Given the description of an element on the screen output the (x, y) to click on. 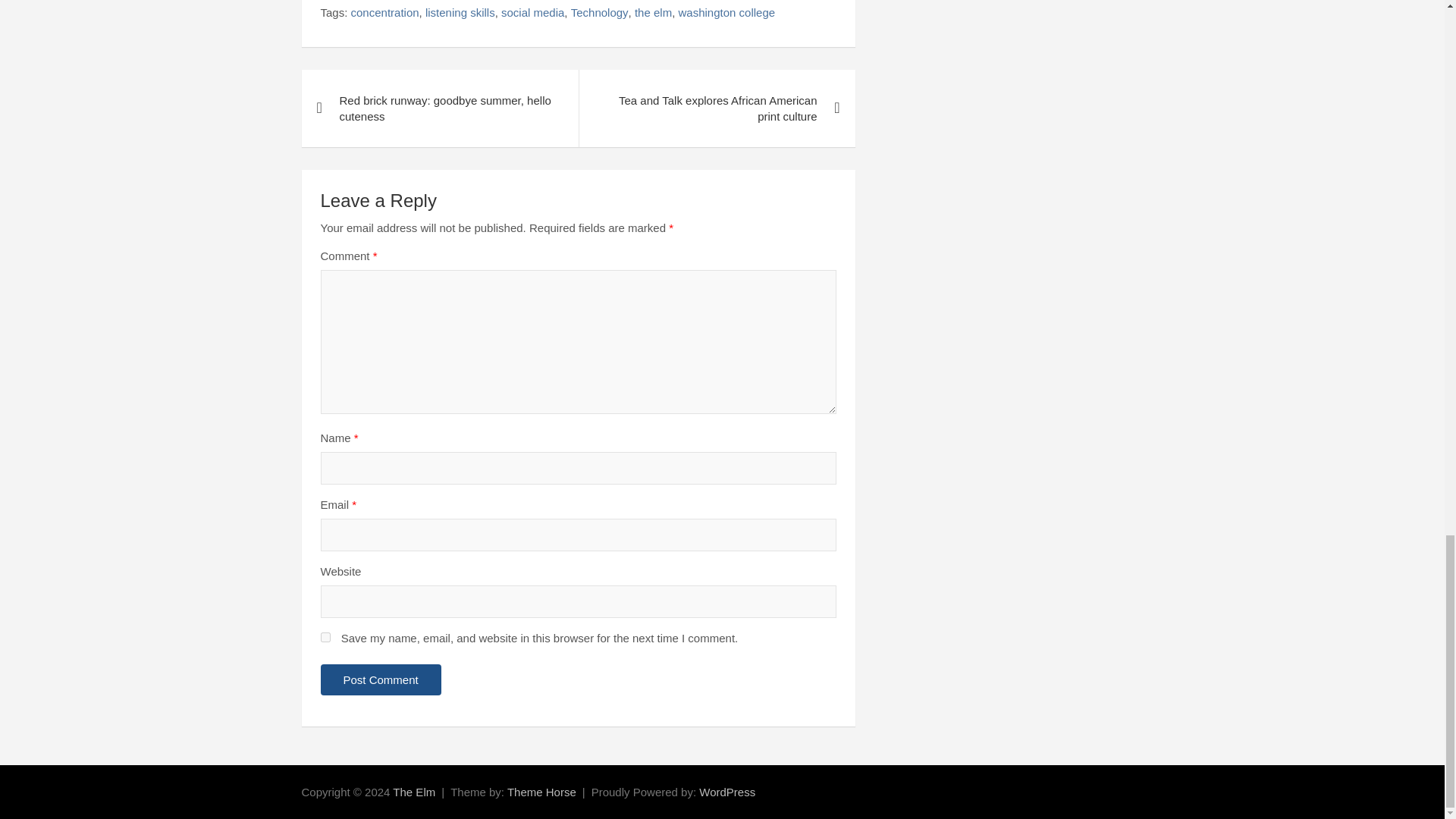
Post Comment (380, 679)
yes (325, 637)
listening skills (460, 12)
Technology (599, 12)
concentration (384, 12)
Red brick runway: goodbye summer, hello cuteness (439, 108)
Post Comment (380, 679)
The Elm (414, 791)
WordPress (726, 791)
washington college (726, 12)
